Given the description of an element on the screen output the (x, y) to click on. 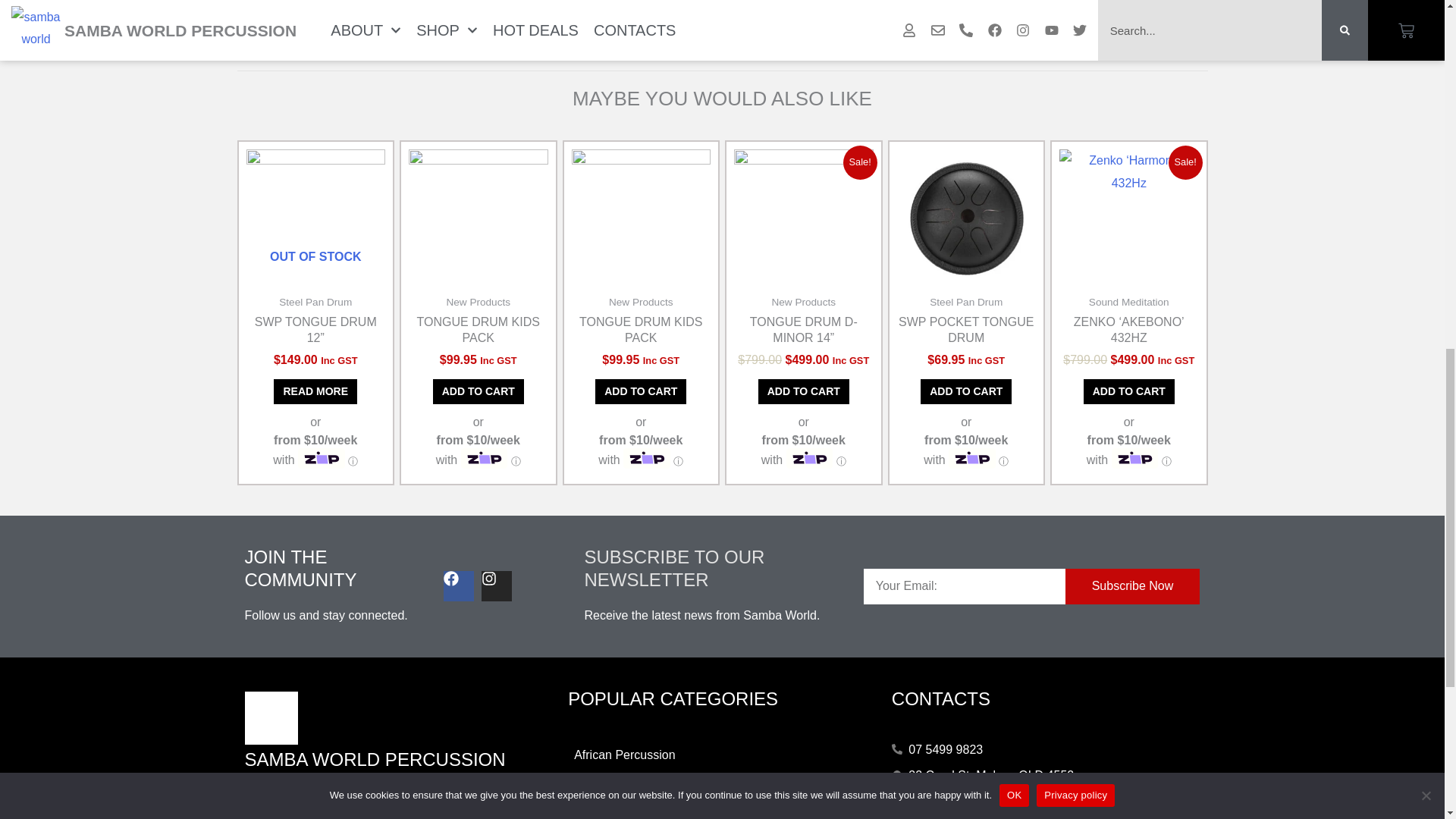
samba world percussion australia (270, 717)
